Given the description of an element on the screen output the (x, y) to click on. 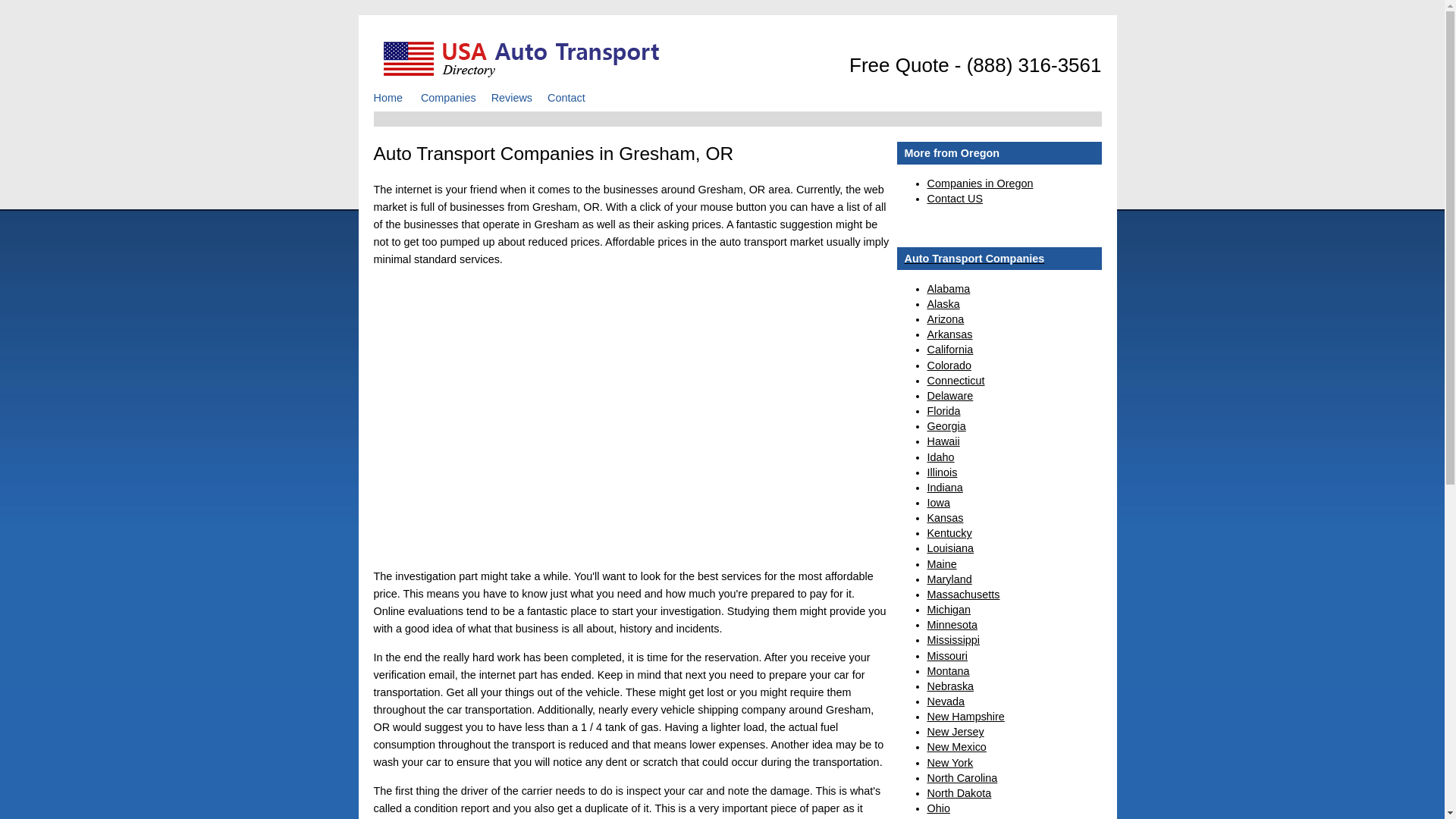
Companies (456, 97)
Alaska (942, 304)
Arkansas (949, 334)
Arizona (944, 318)
Companies in Oregon (979, 183)
Auto Transport Companies (998, 258)
Contact (573, 97)
Delaware (949, 395)
Colorado (948, 365)
California (949, 349)
